Given the description of an element on the screen output the (x, y) to click on. 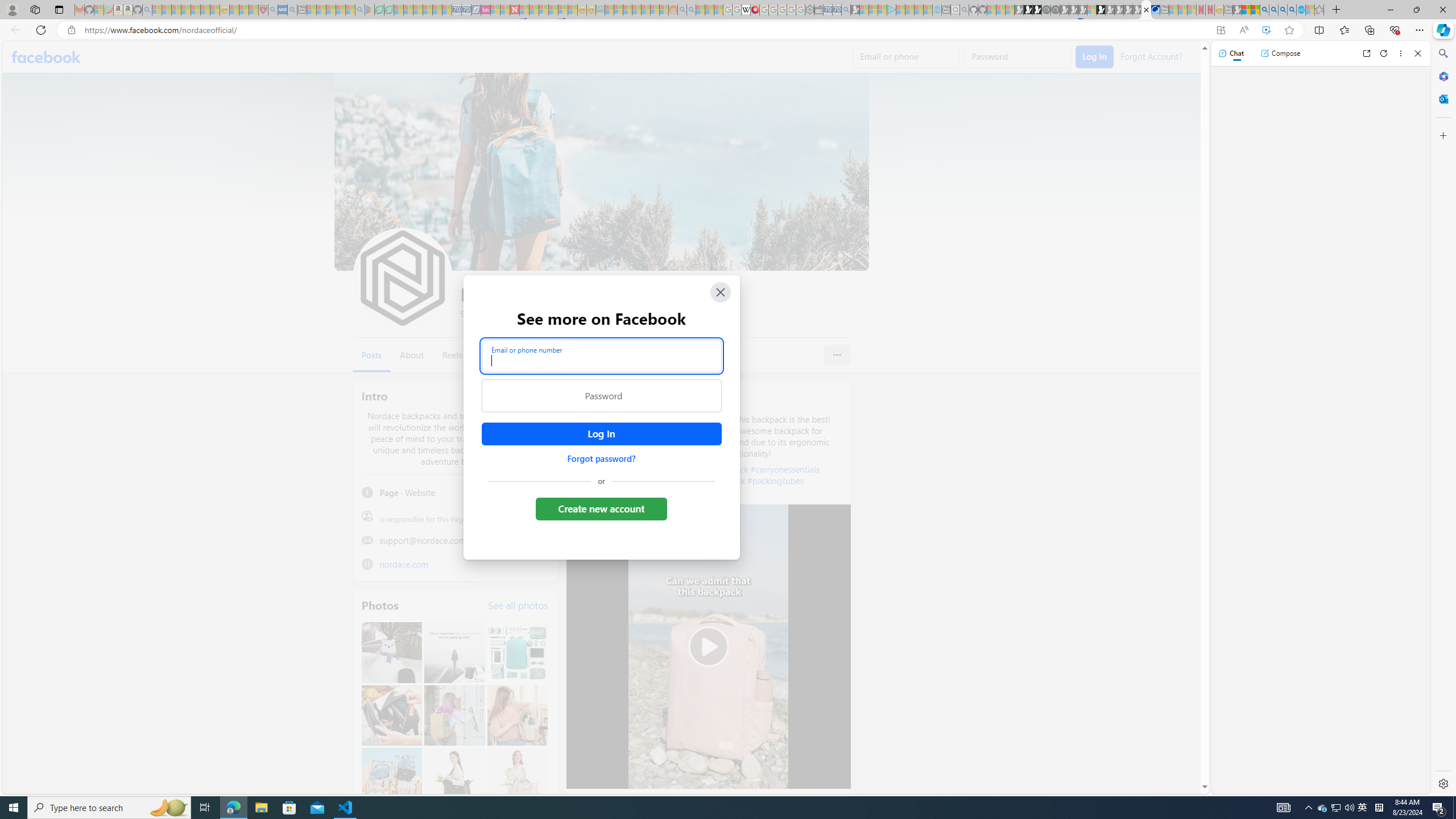
Target page - Wikipedia (745, 9)
